Given the description of an element on the screen output the (x, y) to click on. 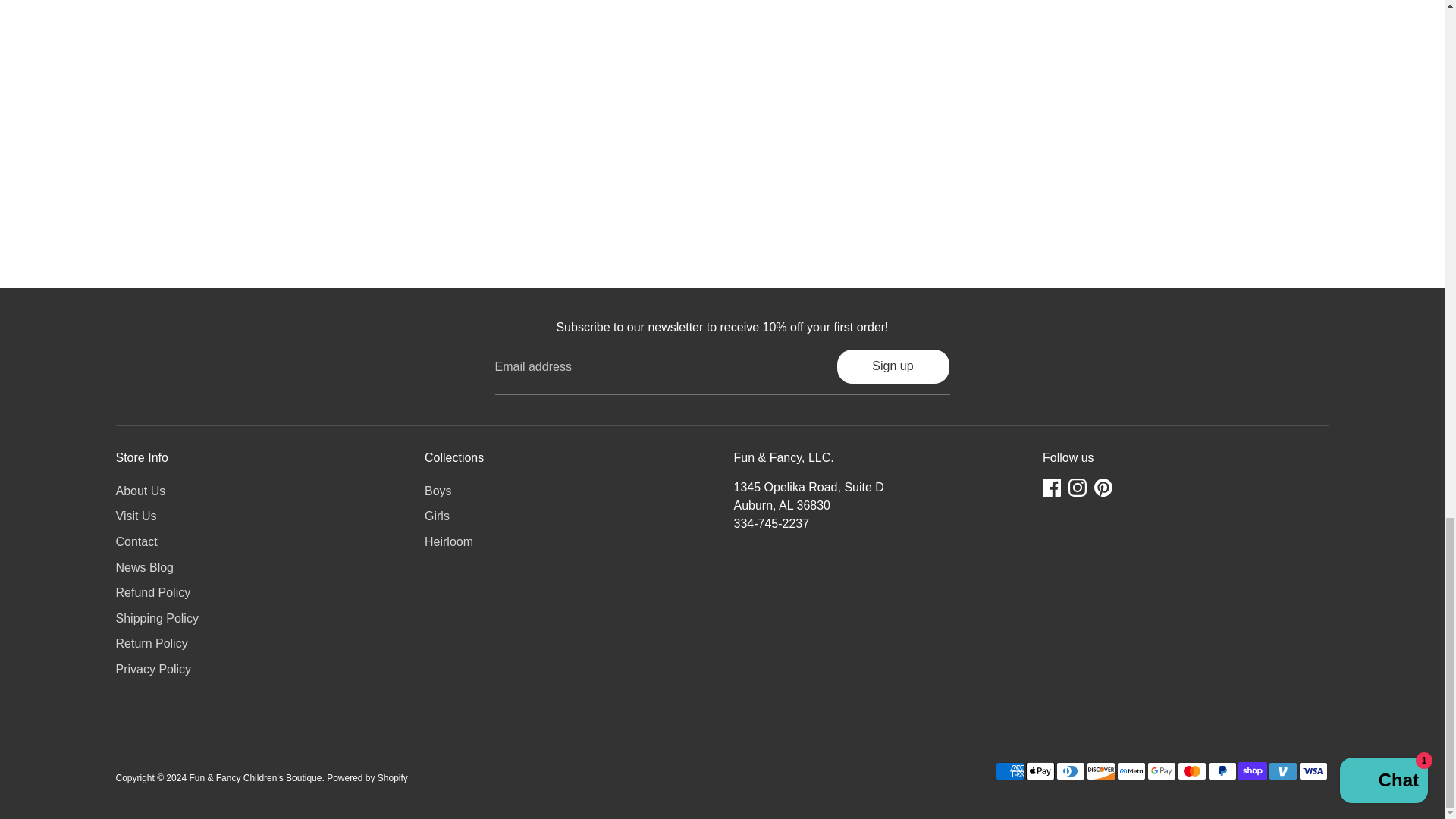
American Express (1008, 771)
Apple Pay (1039, 771)
